Given the description of an element on the screen output the (x, y) to click on. 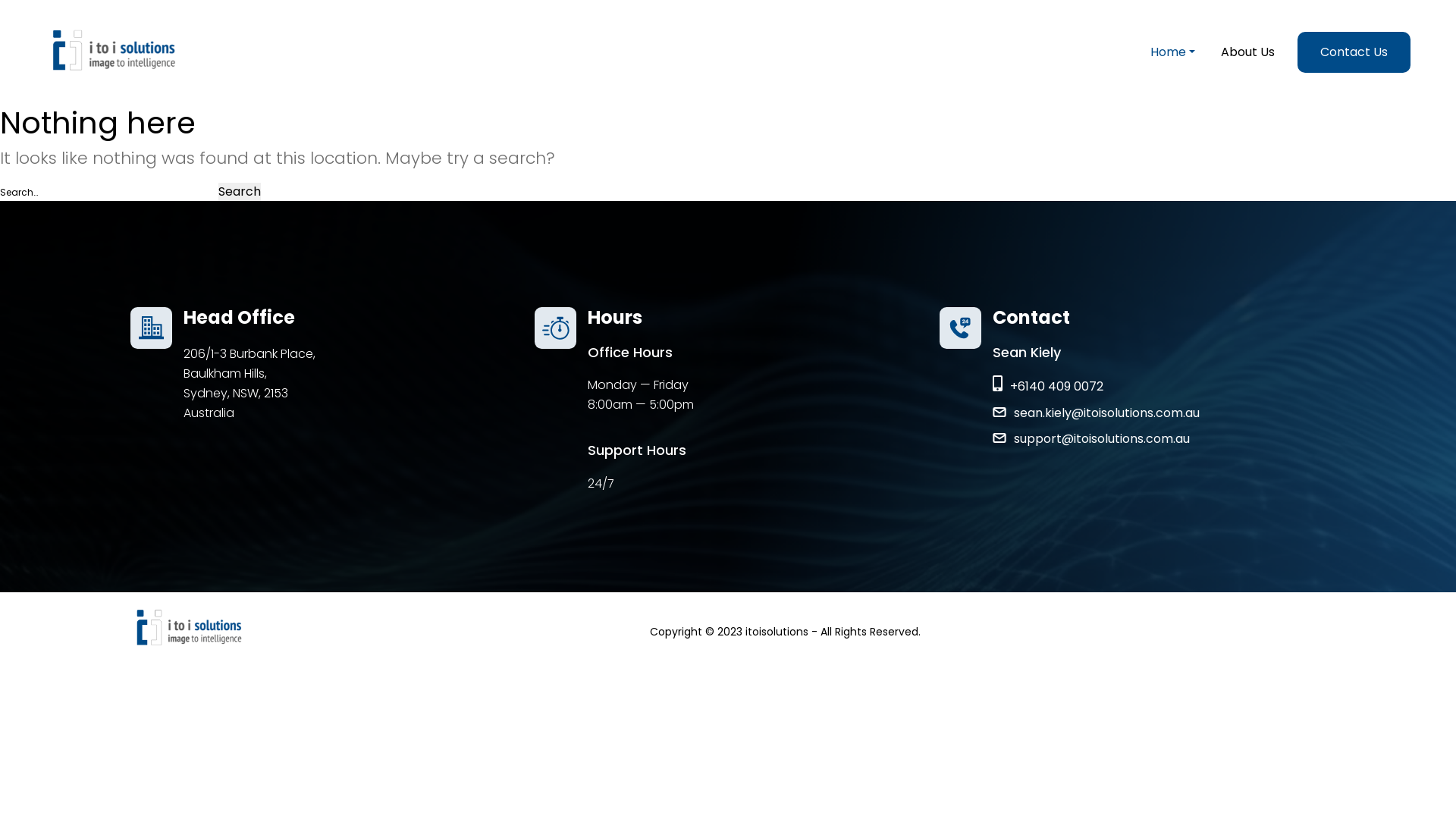
Contact Us Element type: text (1353, 51)
support@itoisolutions.com.au Element type: text (1095, 438)
+6140 409 0072 Element type: text (1095, 386)
About Us Element type: text (1247, 51)
Search Element type: text (239, 191)
sean.kiely@itoisolutions.com.au Element type: text (1095, 413)
Home Element type: text (1162, 51)
